Given the description of an element on the screen output the (x, y) to click on. 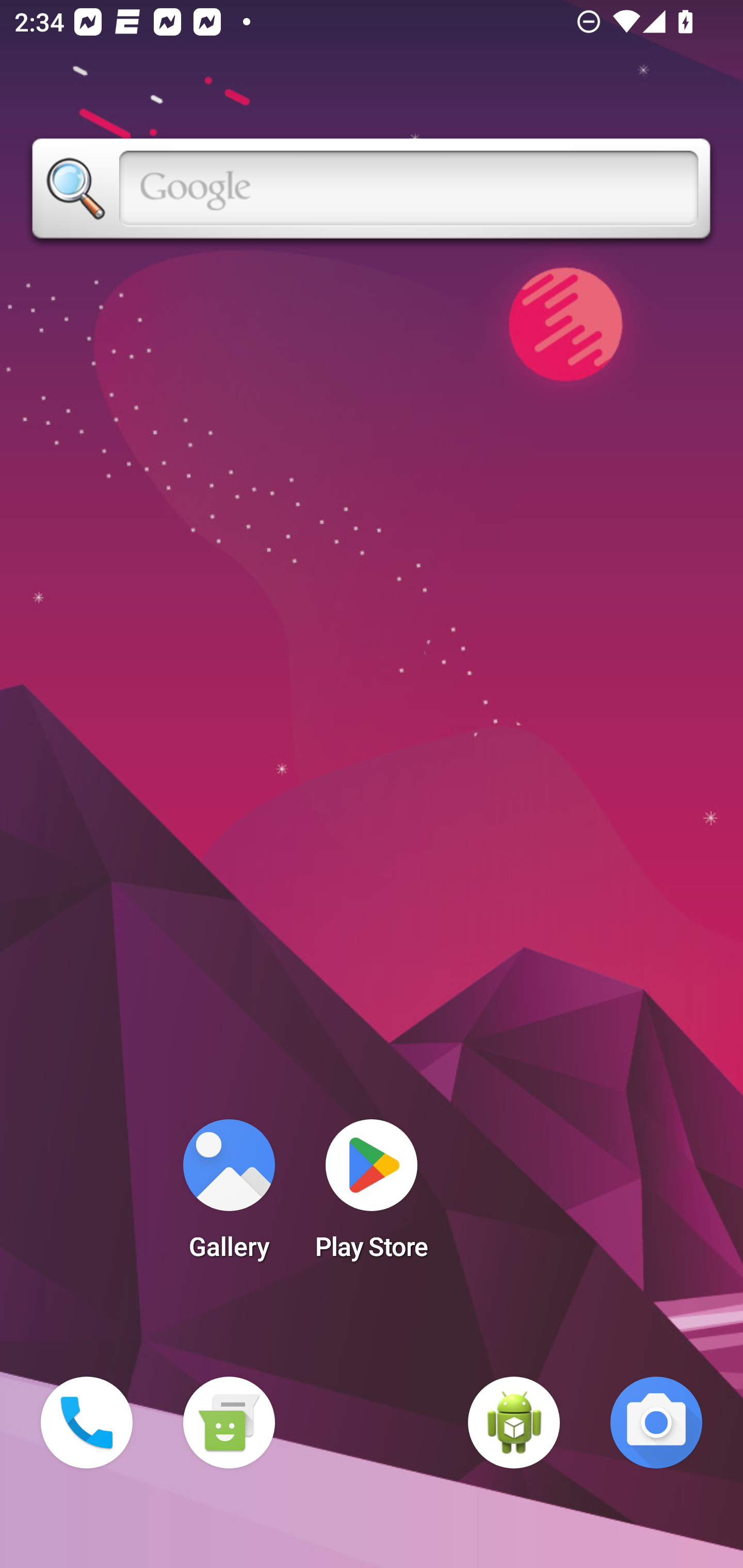
Gallery (228, 1195)
Play Store (371, 1195)
Phone (86, 1422)
Messaging (228, 1422)
WebView Browser Tester (513, 1422)
Camera (656, 1422)
